Given the description of an element on the screen output the (x, y) to click on. 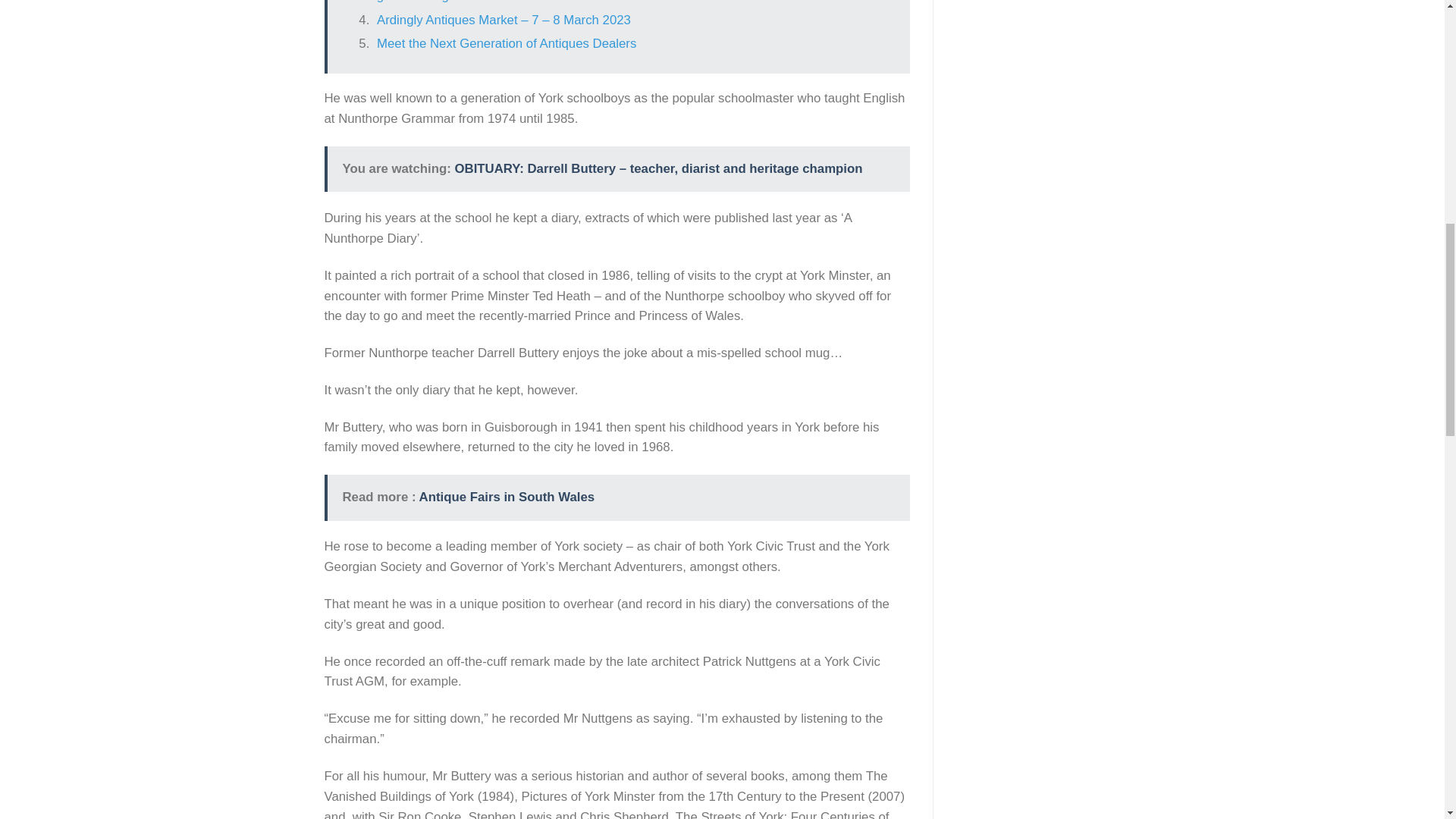
Meet the Next Generation of Antiques Dealers (506, 43)
Antique Fairs in South Wales (507, 496)
Meet the Next Generation of Antiques Dealers (506, 43)
